Given the description of an element on the screen output the (x, y) to click on. 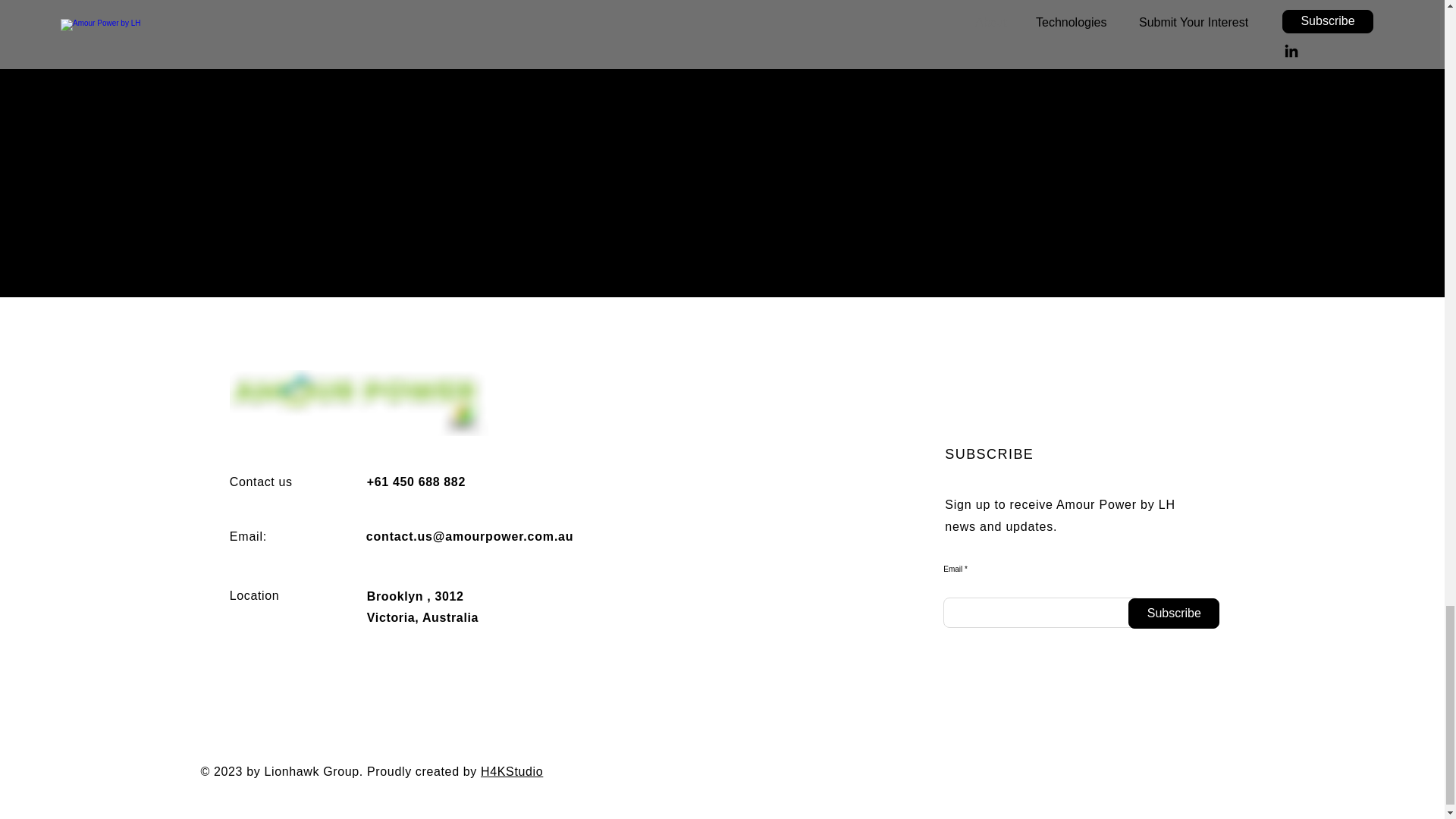
Location (254, 594)
Contact us (261, 481)
H4KStudio (511, 770)
Subscribe (1174, 613)
